Given the description of an element on the screen output the (x, y) to click on. 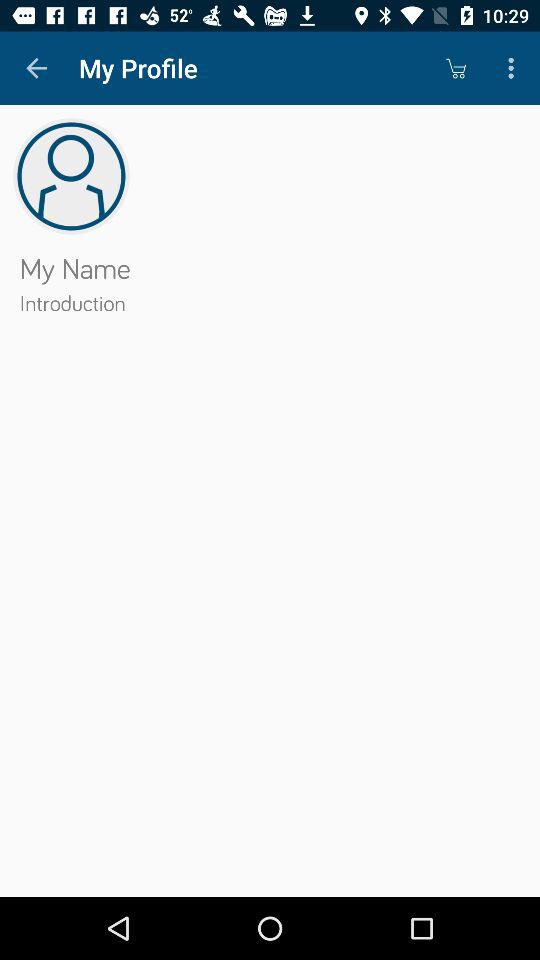
press the app to the left of my profile icon (36, 68)
